Given the description of an element on the screen output the (x, y) to click on. 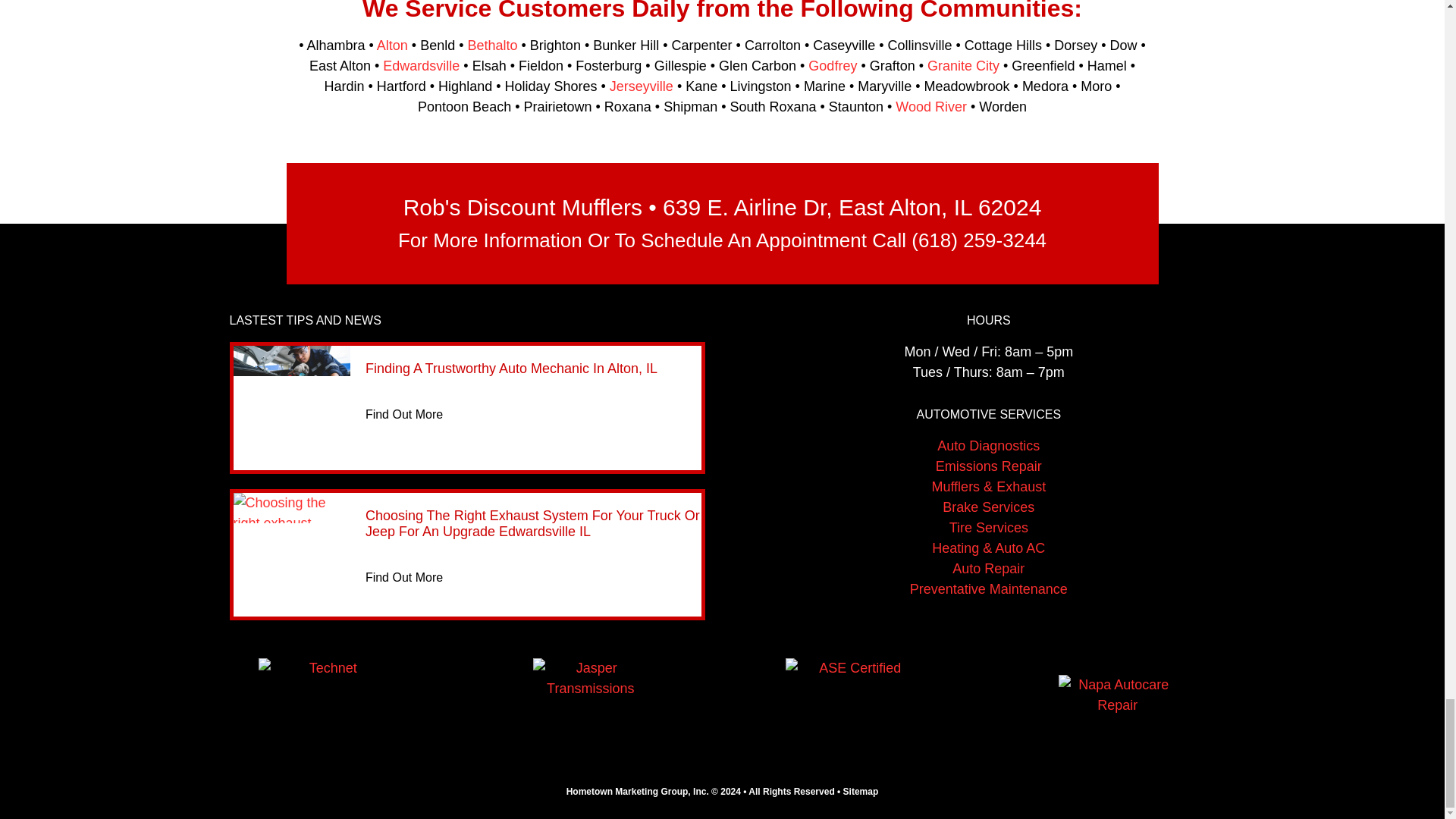
Granite City (962, 65)
Alton (392, 45)
Bethalto (491, 45)
Godfrey (832, 65)
Edwardsville (421, 65)
Wood River (930, 106)
Jerseyville (641, 86)
